Given the description of an element on the screen output the (x, y) to click on. 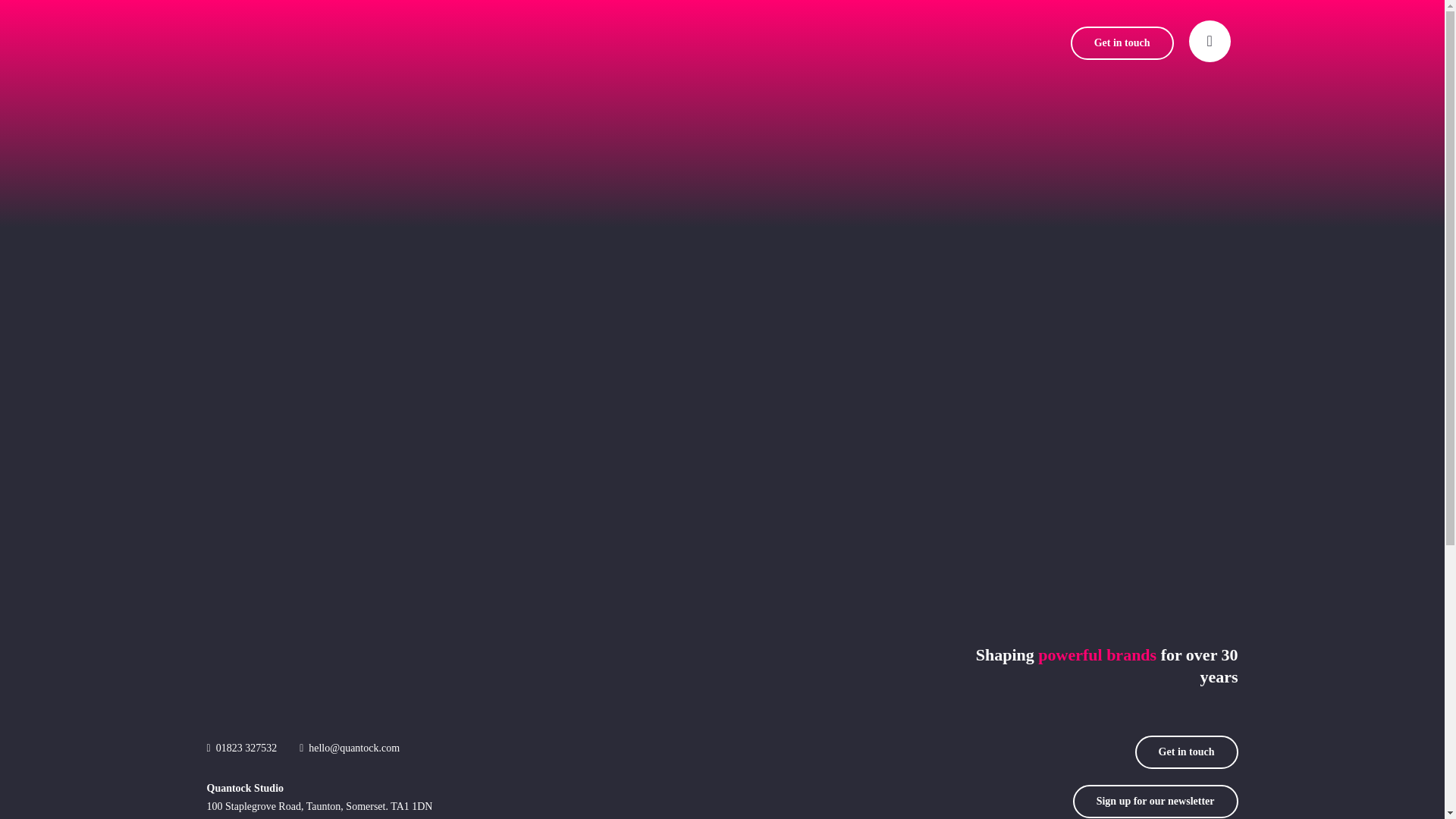
01823 327532 (246, 747)
Get in touch (1187, 752)
Get in touch (1121, 42)
Q-Logo White (244, 674)
Sign up for our newsletter (1156, 801)
